Given the description of an element on the screen output the (x, y) to click on. 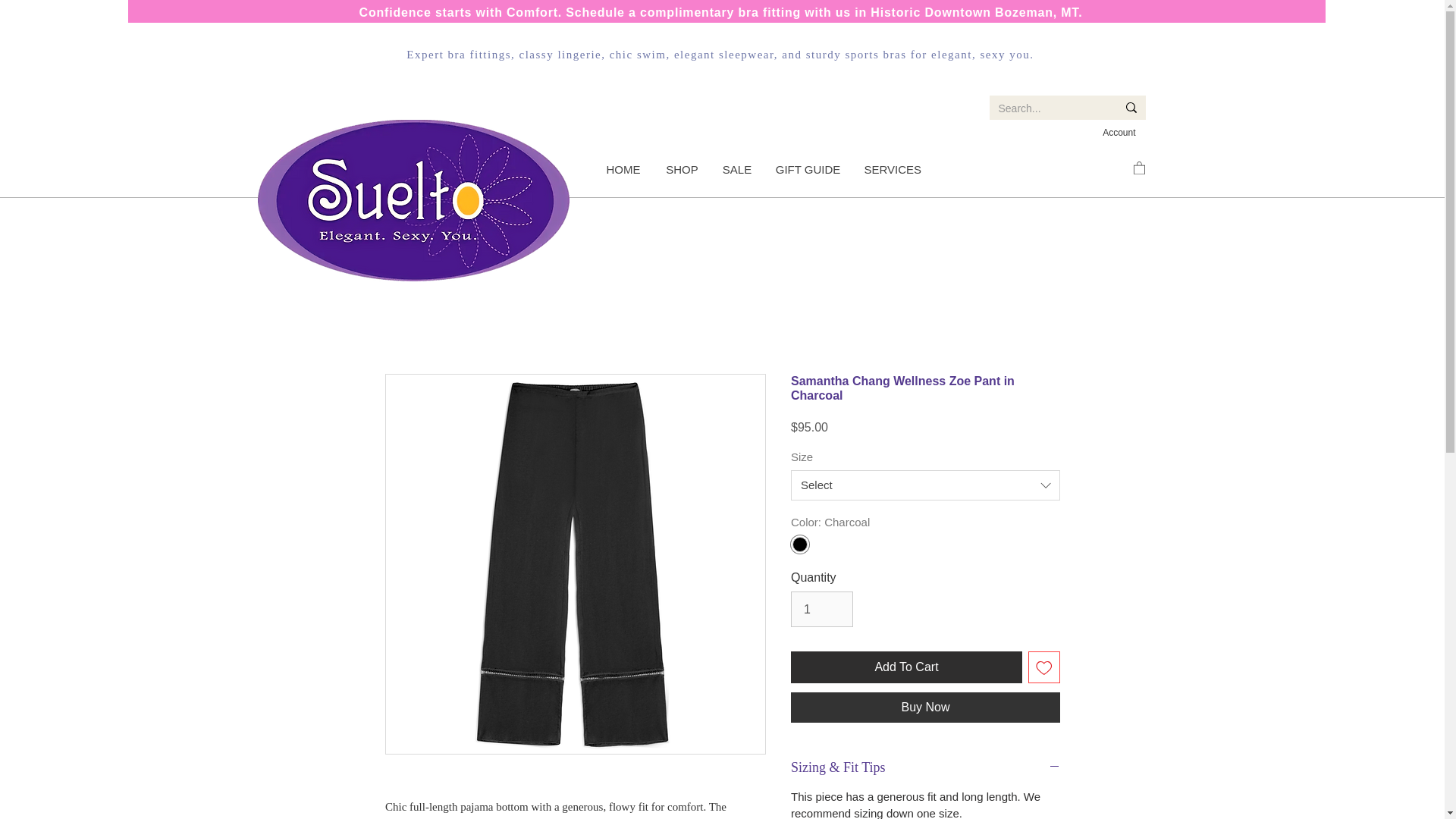
Add To Cart (906, 667)
HOME (622, 169)
1 (821, 608)
Account (1118, 133)
SALE (736, 169)
SHOP (681, 169)
Select (924, 485)
Buy Now (924, 707)
GIFT GUIDE (806, 169)
SERVICES (891, 169)
